Given the description of an element on the screen output the (x, y) to click on. 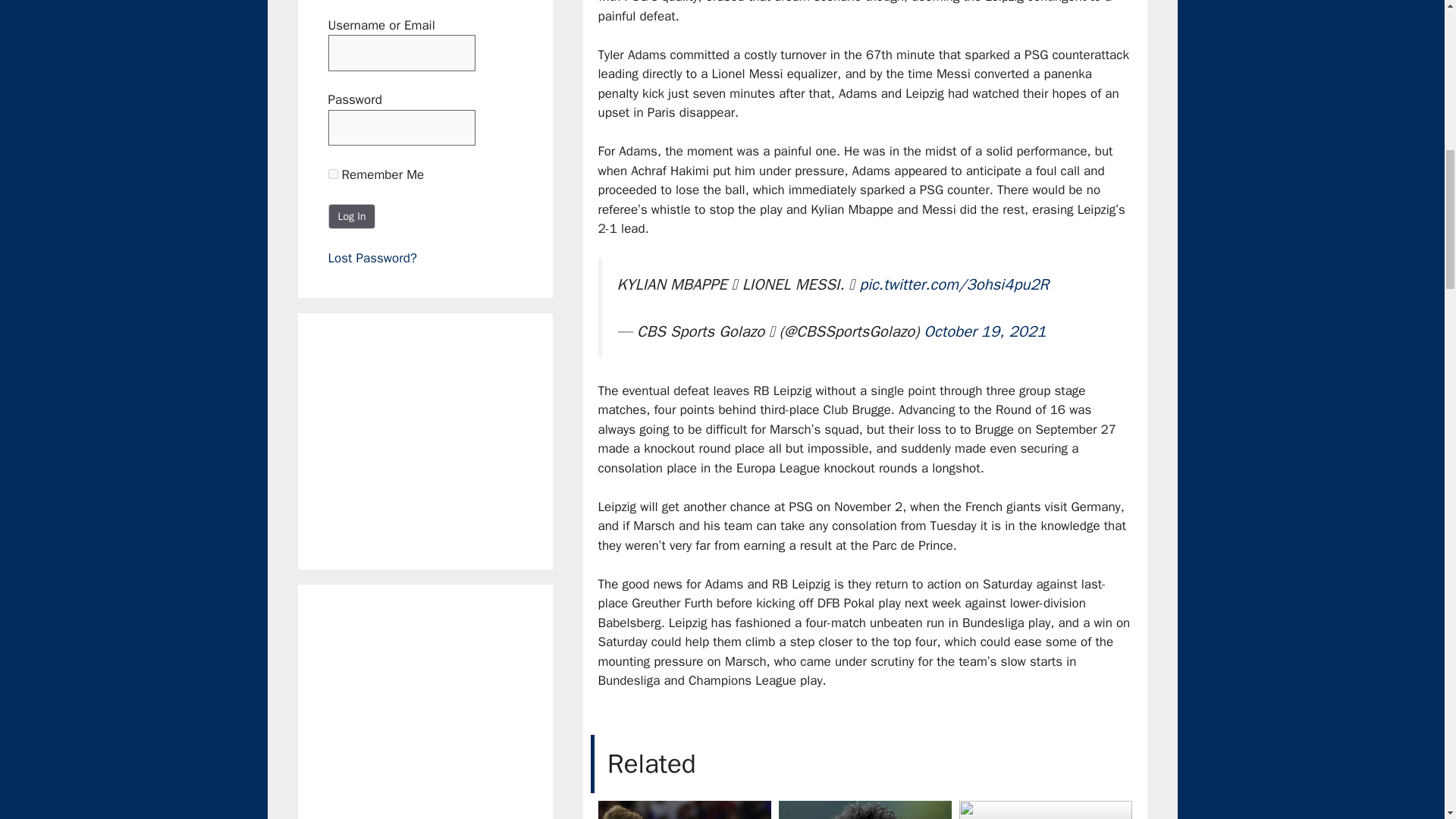
forever (332, 173)
Log In (351, 216)
